Given the description of an element on the screen output the (x, y) to click on. 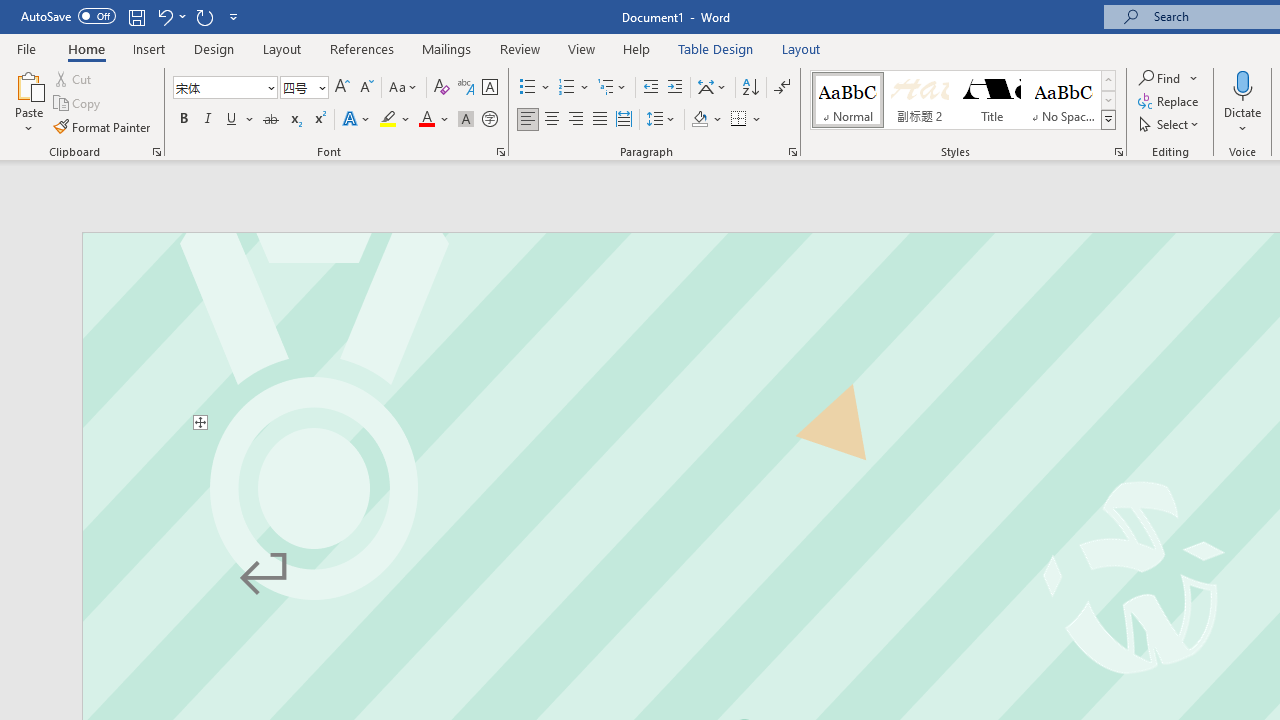
Undo Text Fill Effect (170, 15)
